Given the description of an element on the screen output the (x, y) to click on. 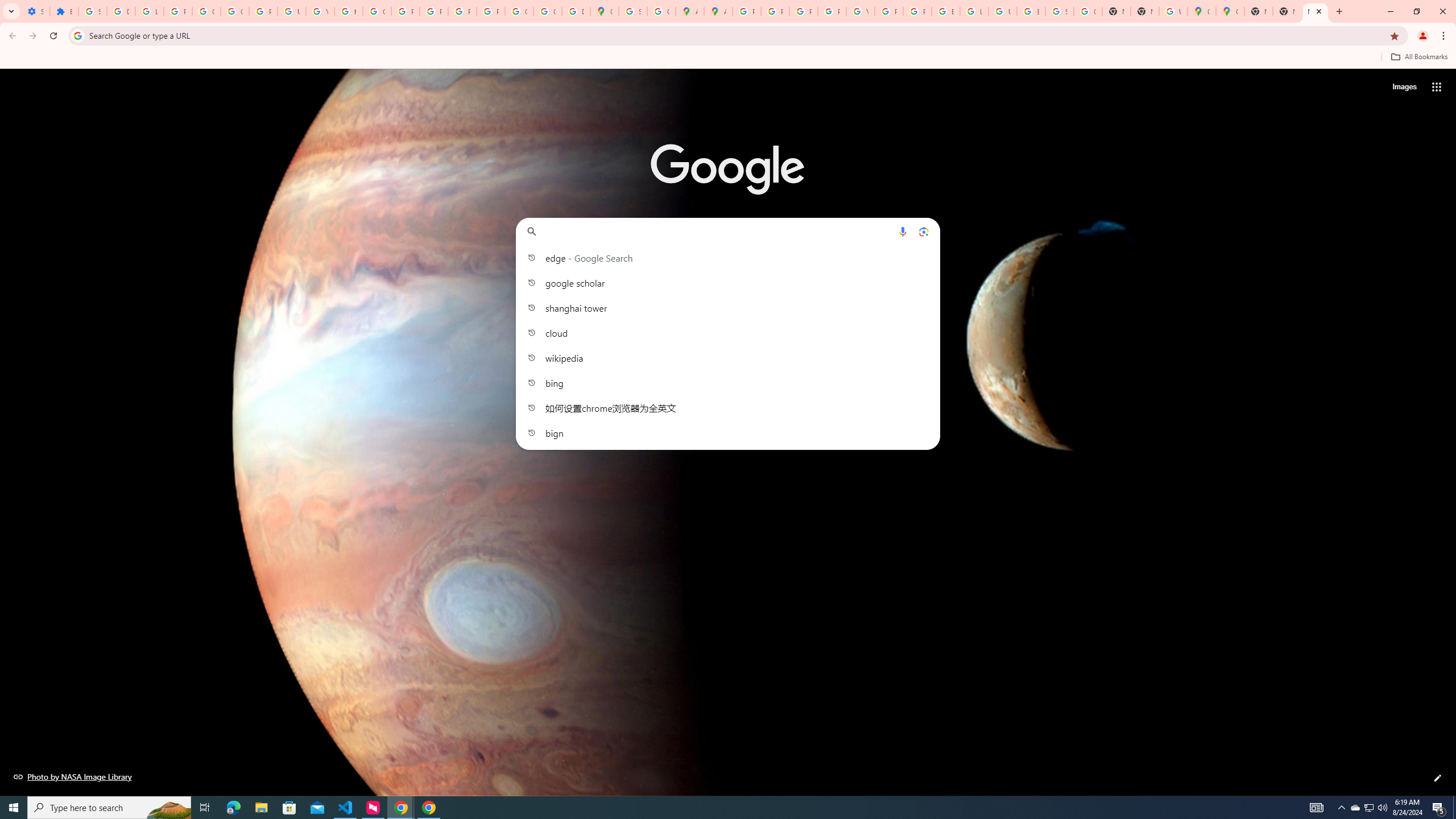
Google Maps (1201, 11)
Remove (909, 265)
Google Maps (760, 287)
YouTube (320, 11)
Chrome Web Store (887, 287)
Google Maps (1230, 11)
Privacy Help Center - Policies Help (405, 11)
